Given the description of an element on the screen output the (x, y) to click on. 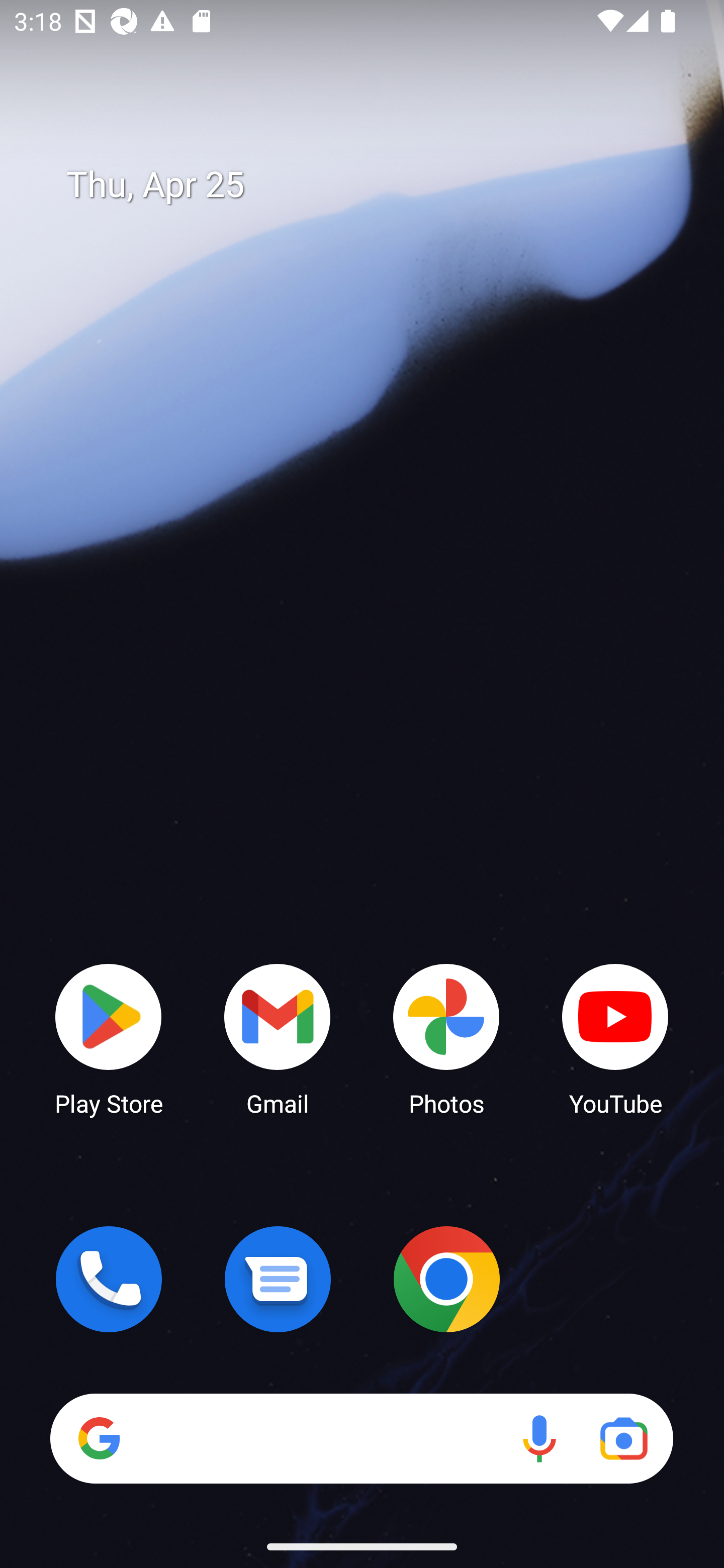
Thu, Apr 25 (375, 184)
Play Store (108, 1038)
Gmail (277, 1038)
Photos (445, 1038)
YouTube (615, 1038)
Phone (108, 1279)
Messages (277, 1279)
Chrome (446, 1279)
Search Voice search Google Lens (361, 1438)
Voice search (539, 1438)
Google Lens (623, 1438)
